Given the description of an element on the screen output the (x, y) to click on. 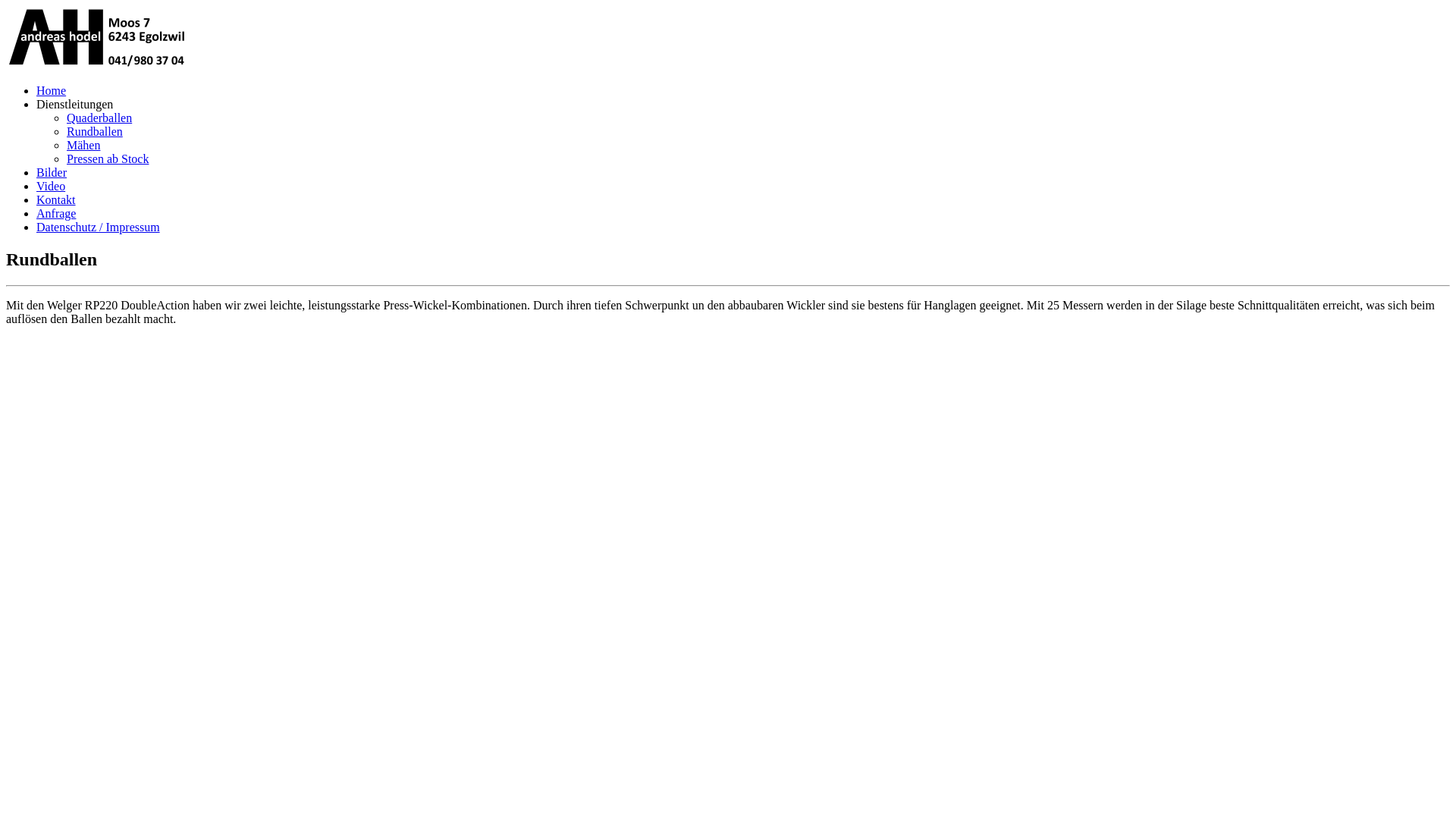
Quaderballen Element type: text (98, 117)
Home Element type: text (50, 90)
Pressen ab Stock Element type: text (107, 158)
Rundballen Element type: text (94, 131)
Bilder Element type: text (51, 172)
Kontakt Element type: text (55, 199)
Anfrage Element type: text (55, 213)
Datenschutz / Impressum Element type: text (98, 226)
Video Element type: text (50, 185)
